Given the description of an element on the screen output the (x, y) to click on. 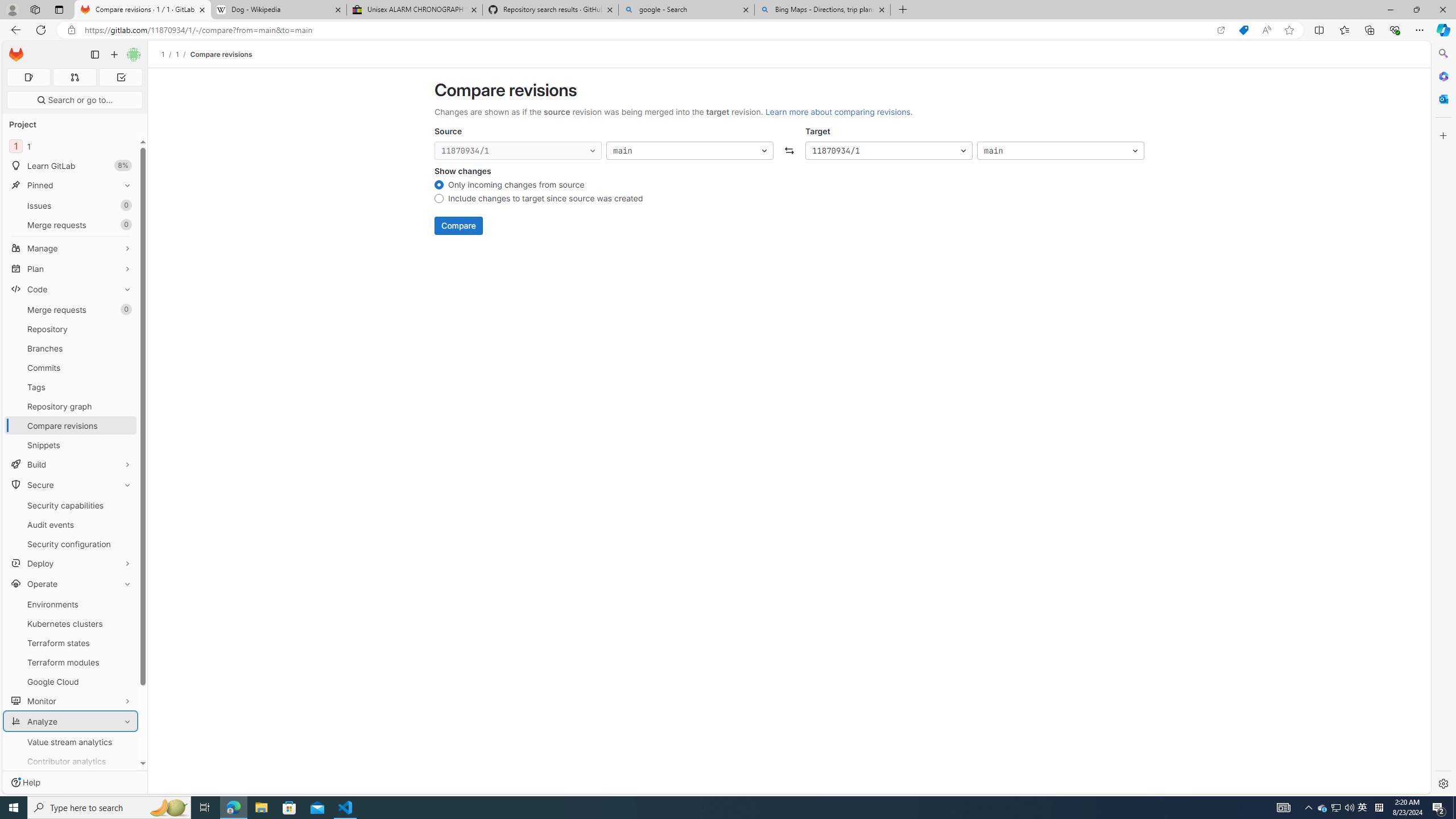
Pin Repository graph (124, 406)
Pin Tags (124, 386)
Environments (70, 603)
Pin Repository (124, 328)
Tags (70, 386)
Monitor (70, 700)
Commits (70, 367)
Security capabilities (70, 505)
Pin Branches (124, 348)
Secure (70, 484)
Learn GitLab8% (70, 165)
Unpin Issues (124, 205)
